Given the description of an element on the screen output the (x, y) to click on. 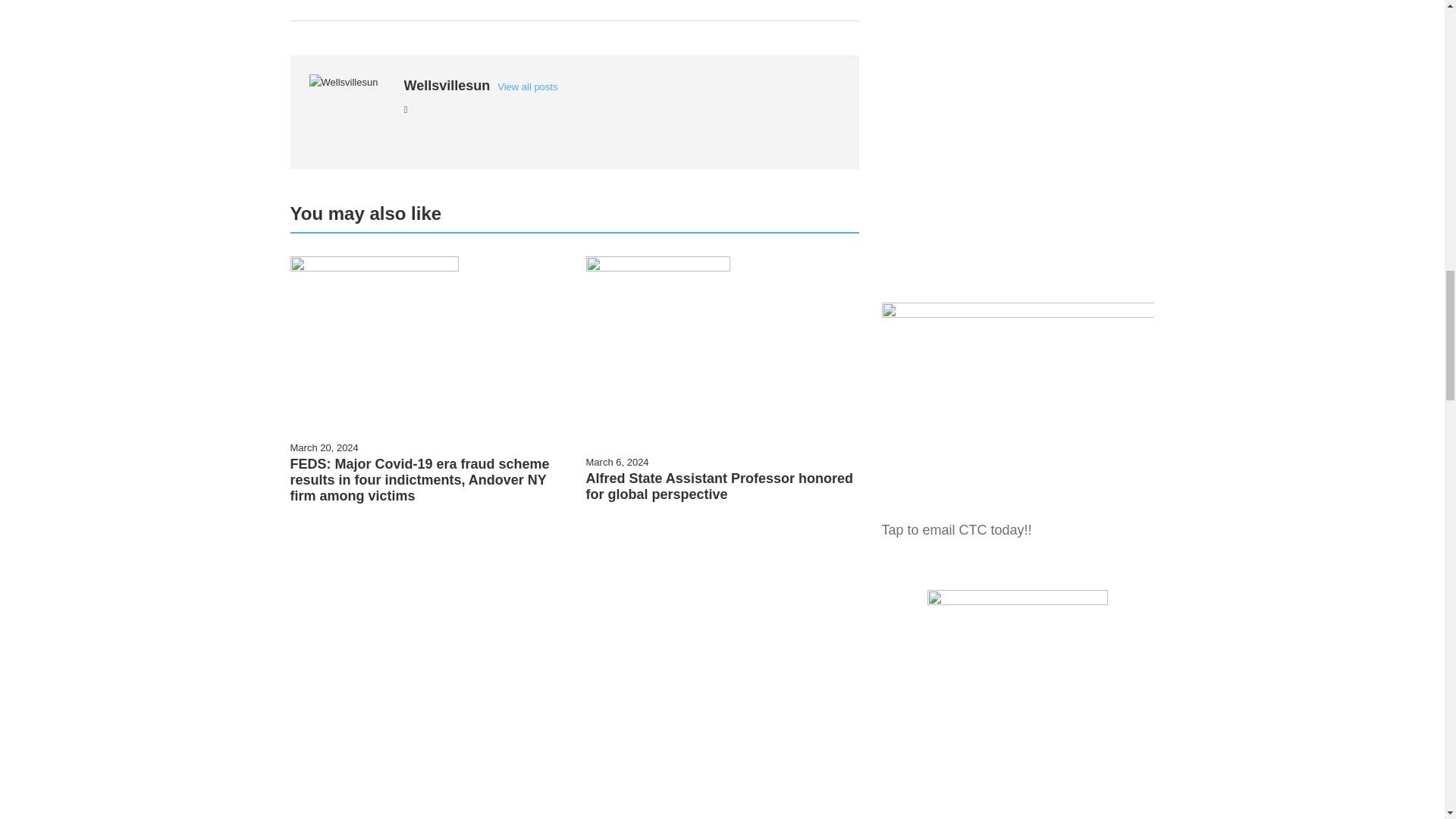
View all posts (527, 86)
